Given the description of an element on the screen output the (x, y) to click on. 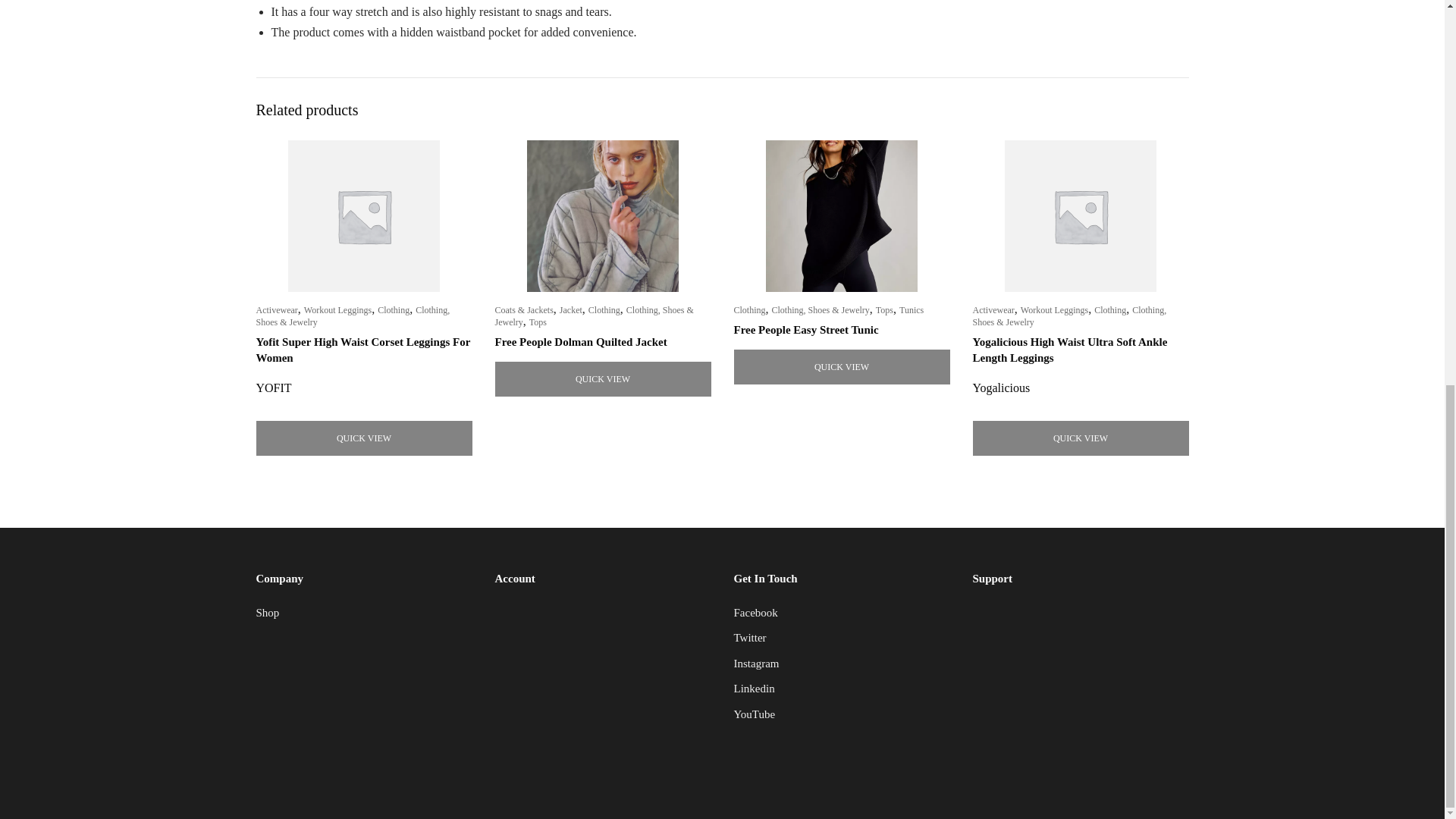
Yogalicious High Waist Ultra Soft Ankle Length Leggings (1069, 349)
Free People Dolman Quilted Jacket (580, 341)
Free People Easy Street Tunic (806, 329)
Yofit Super High Waist Corset Leggings For Women (363, 349)
